Given the description of an element on the screen output the (x, y) to click on. 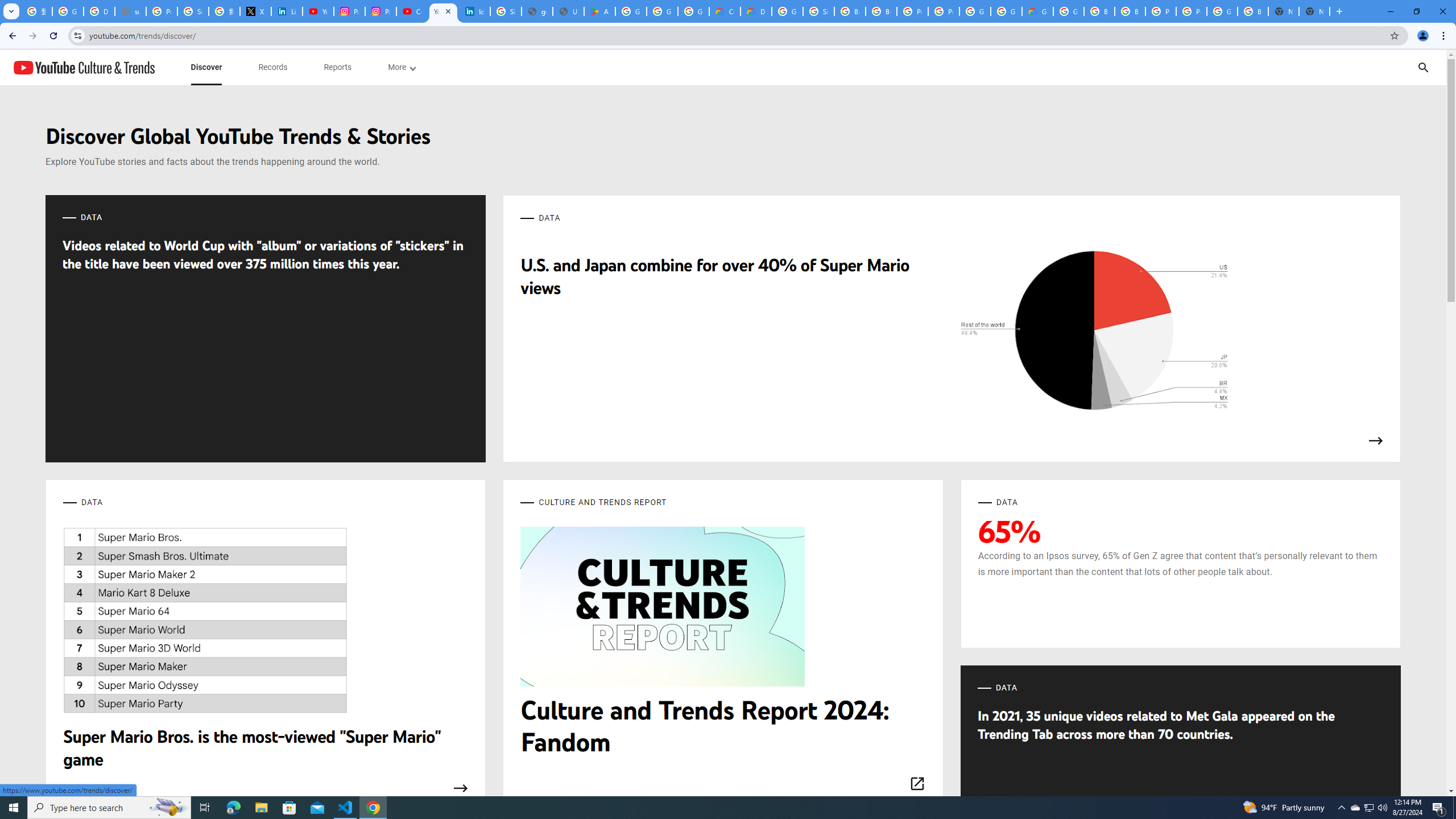
User Details (568, 11)
Google Cloud Platform (974, 11)
JUMP TO CONTENT (118, 67)
subnav-Discover menupopup (206, 67)
New Tab (1314, 11)
X (255, 11)
subnav-Records menupopup (272, 67)
